Given the description of an element on the screen output the (x, y) to click on. 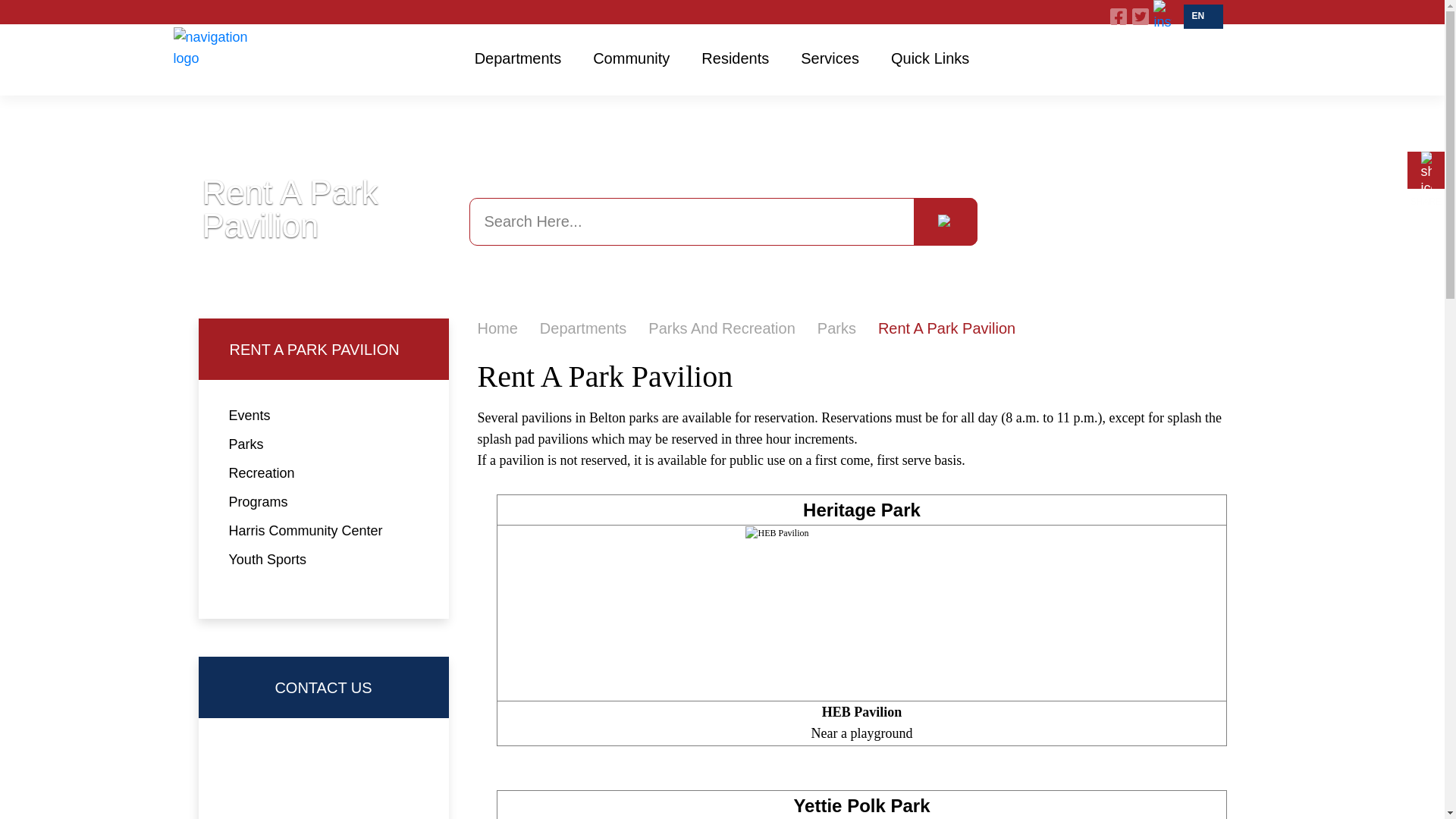
EN (1203, 16)
Facebook (1117, 16)
Twitter (1140, 16)
